Given the description of an element on the screen output the (x, y) to click on. 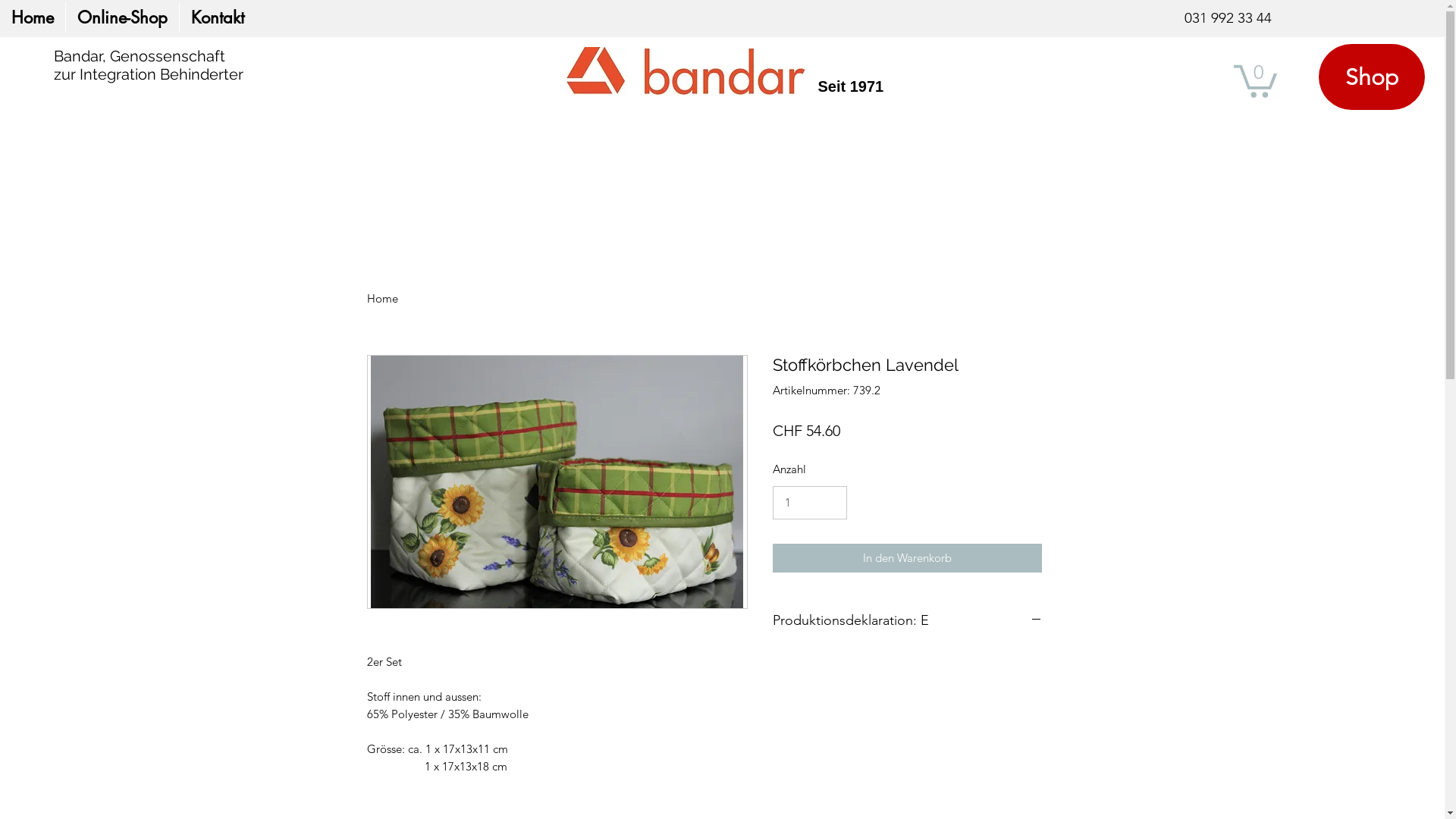
Online-Shop Element type: text (121, 17)
Produktionsdeklaration: E Element type: text (906, 620)
Shop Element type: text (1371, 76)
In den Warenkorb Element type: text (906, 558)
Home Element type: text (382, 298)
0 Element type: text (1255, 79)
Kontakt Element type: text (216, 17)
Home Element type: text (32, 17)
